Given the description of an element on the screen output the (x, y) to click on. 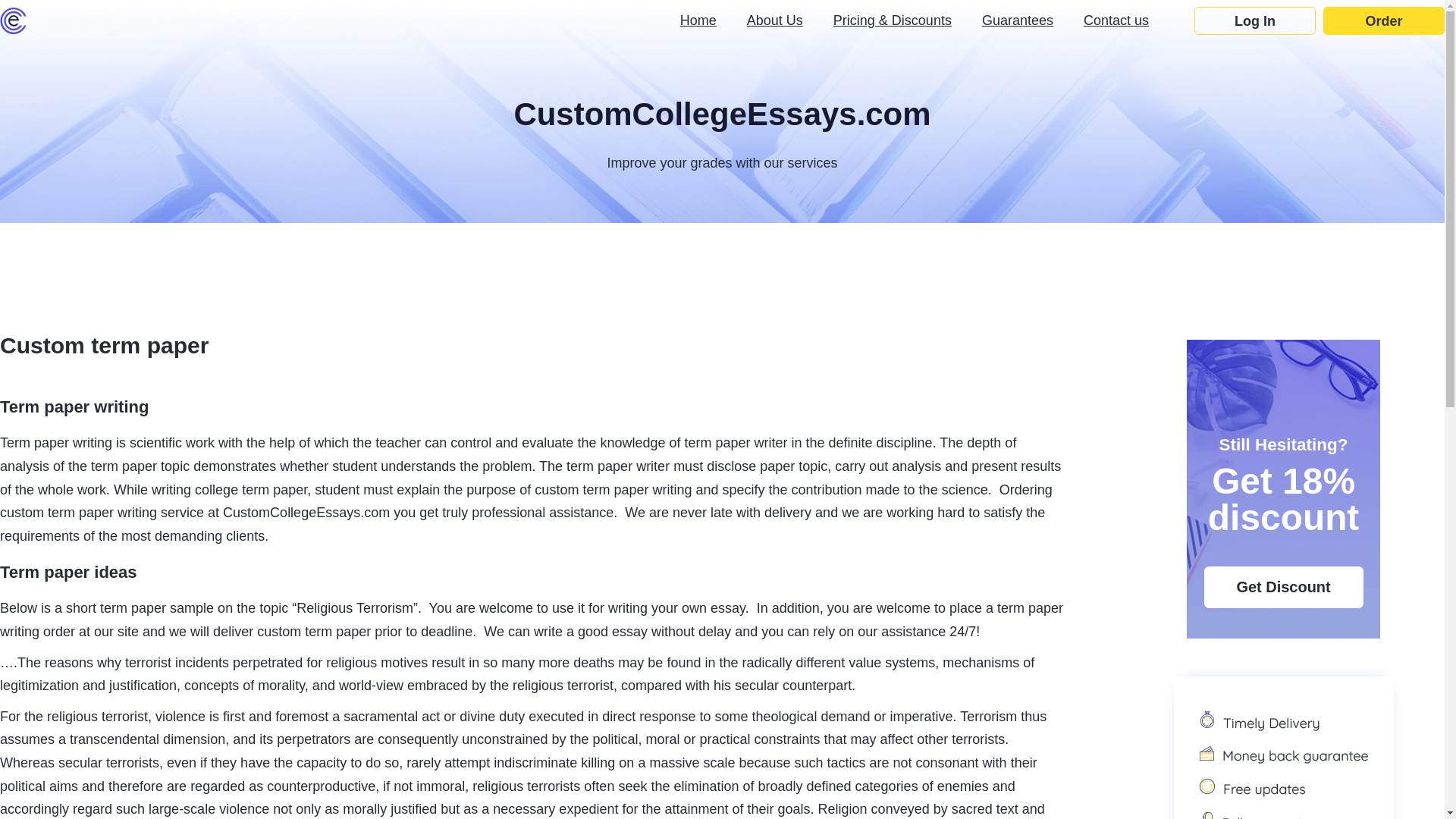
Guarantees (1016, 20)
Get Discount (1283, 587)
Logo (13, 20)
Contact us (1115, 20)
Home (697, 20)
About Us (774, 20)
Log In (1254, 20)
